Given the description of an element on the screen output the (x, y) to click on. 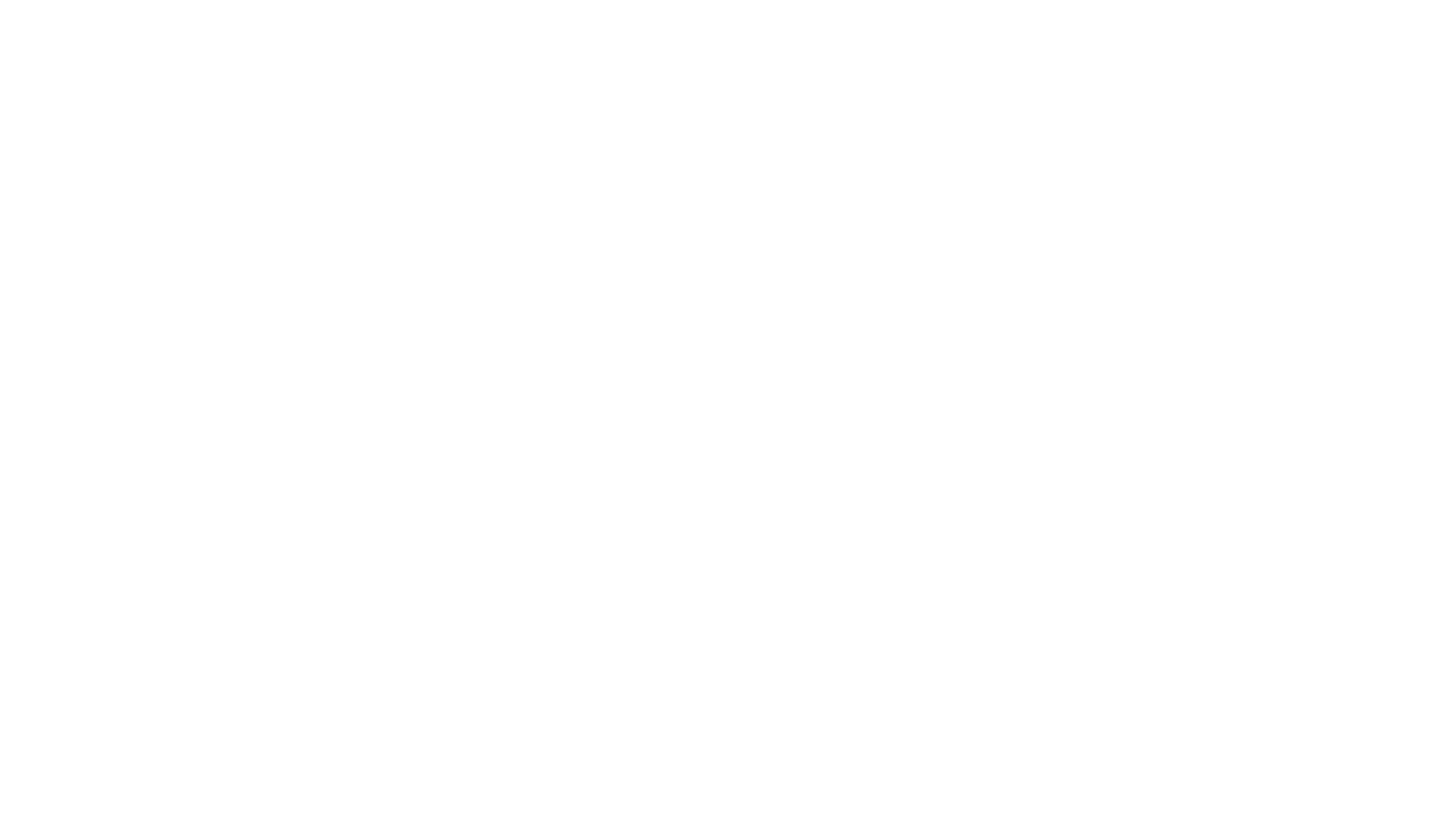
Skip to main content Element type: text (56, 12)
